Given the description of an element on the screen output the (x, y) to click on. 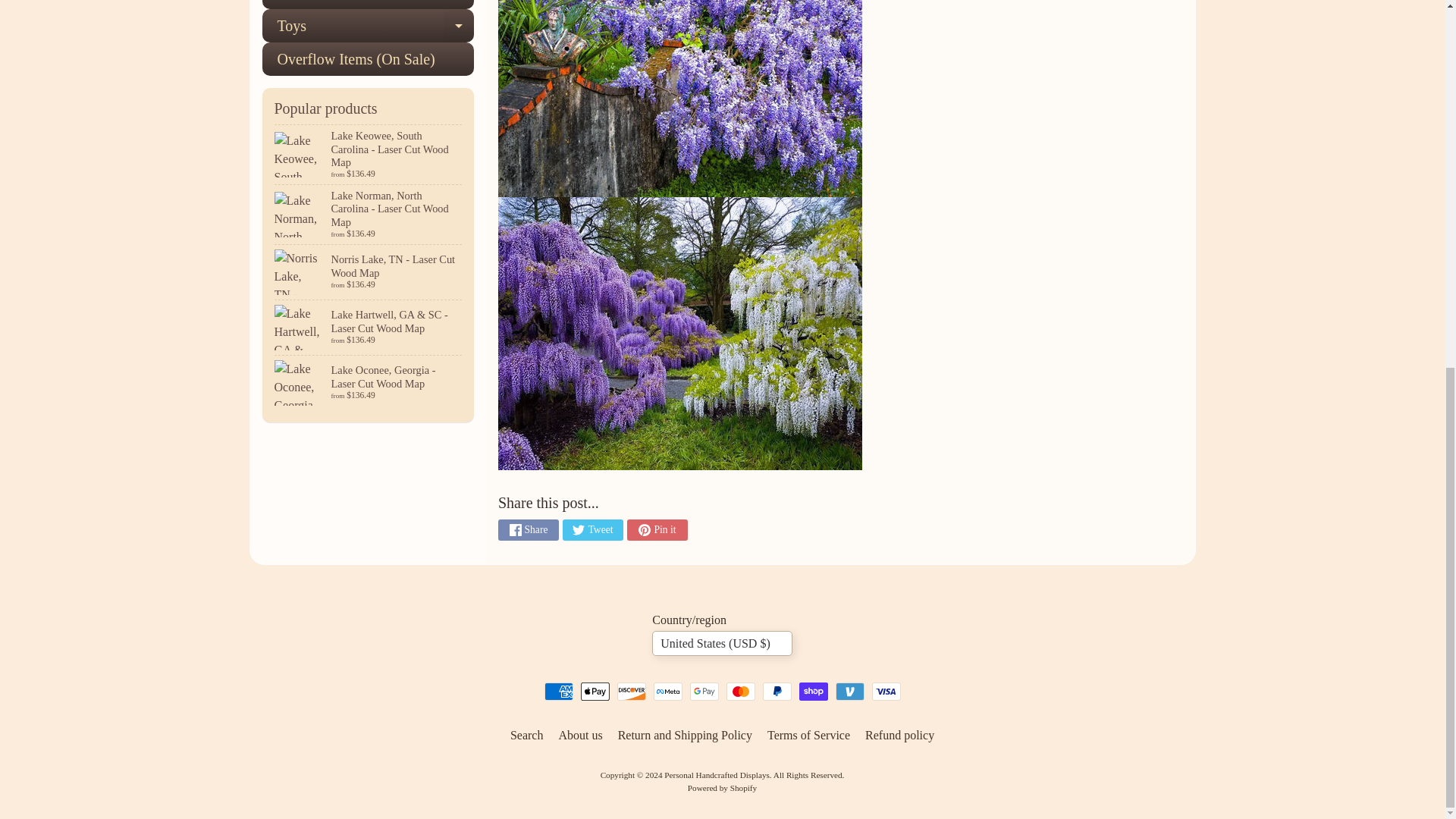
Meta Pay (667, 691)
American Express (558, 691)
Lake Oconee, Georgia - Laser Cut Wood Map (369, 382)
Discover (631, 691)
Mastercard (740, 691)
Lake Norman, North Carolina - Laser Cut Wood Map (369, 214)
Visa (886, 691)
Shop Pay (813, 691)
Share on Facebook (528, 529)
Apple Pay (595, 691)
Tweet on Twitter (592, 529)
Venmo (849, 691)
Norris Lake, TN - Laser Cut Wood Map (369, 271)
Google Pay (704, 691)
Pin on Pinterest (657, 529)
